Given the description of an element on the screen output the (x, y) to click on. 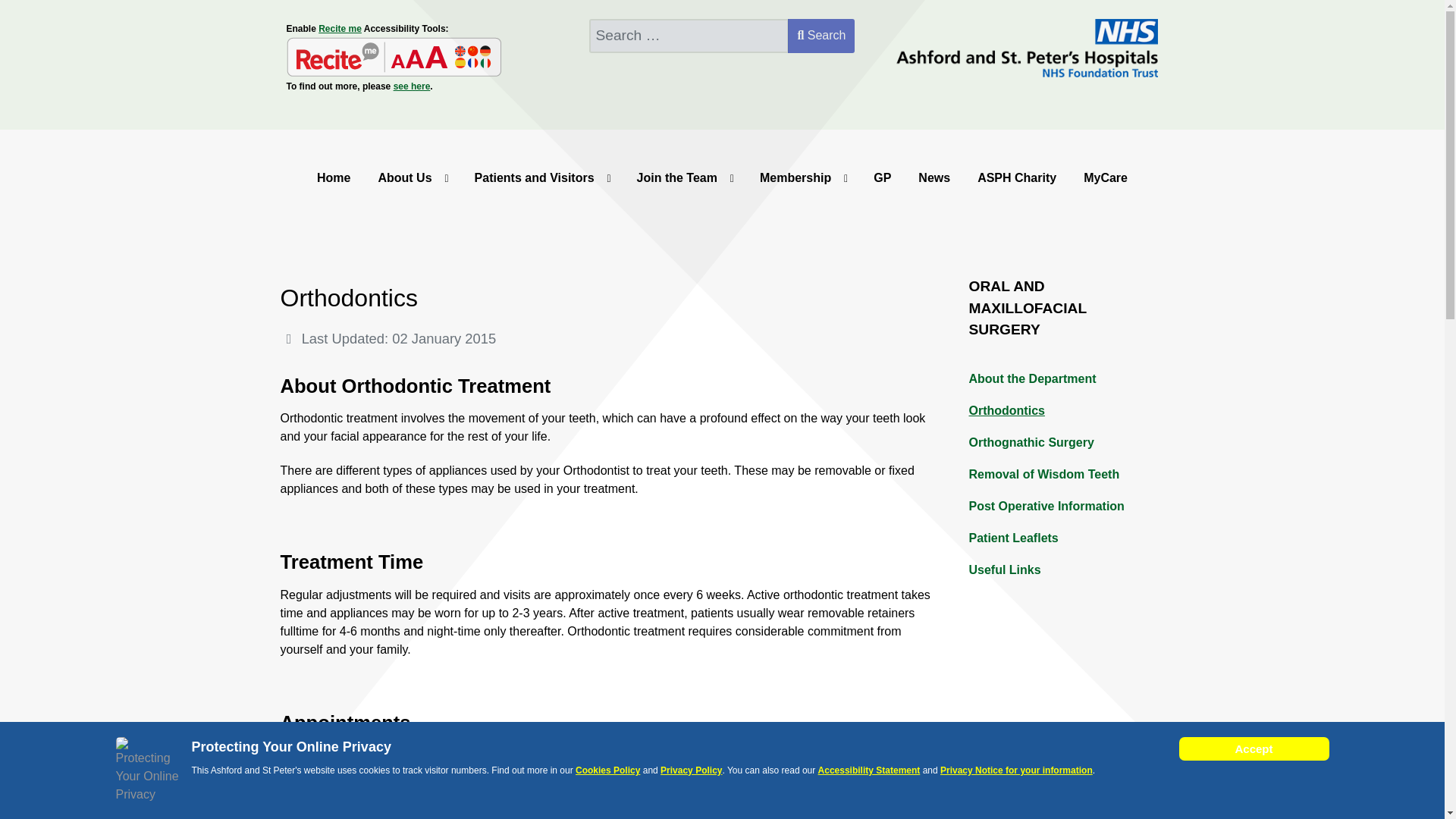
Accessibility Options (394, 45)
Return to the homepage (1024, 33)
Home (333, 177)
About Us (412, 177)
Search (820, 35)
see here (411, 86)
Recite me (339, 28)
